Given the description of an element on the screen output the (x, y) to click on. 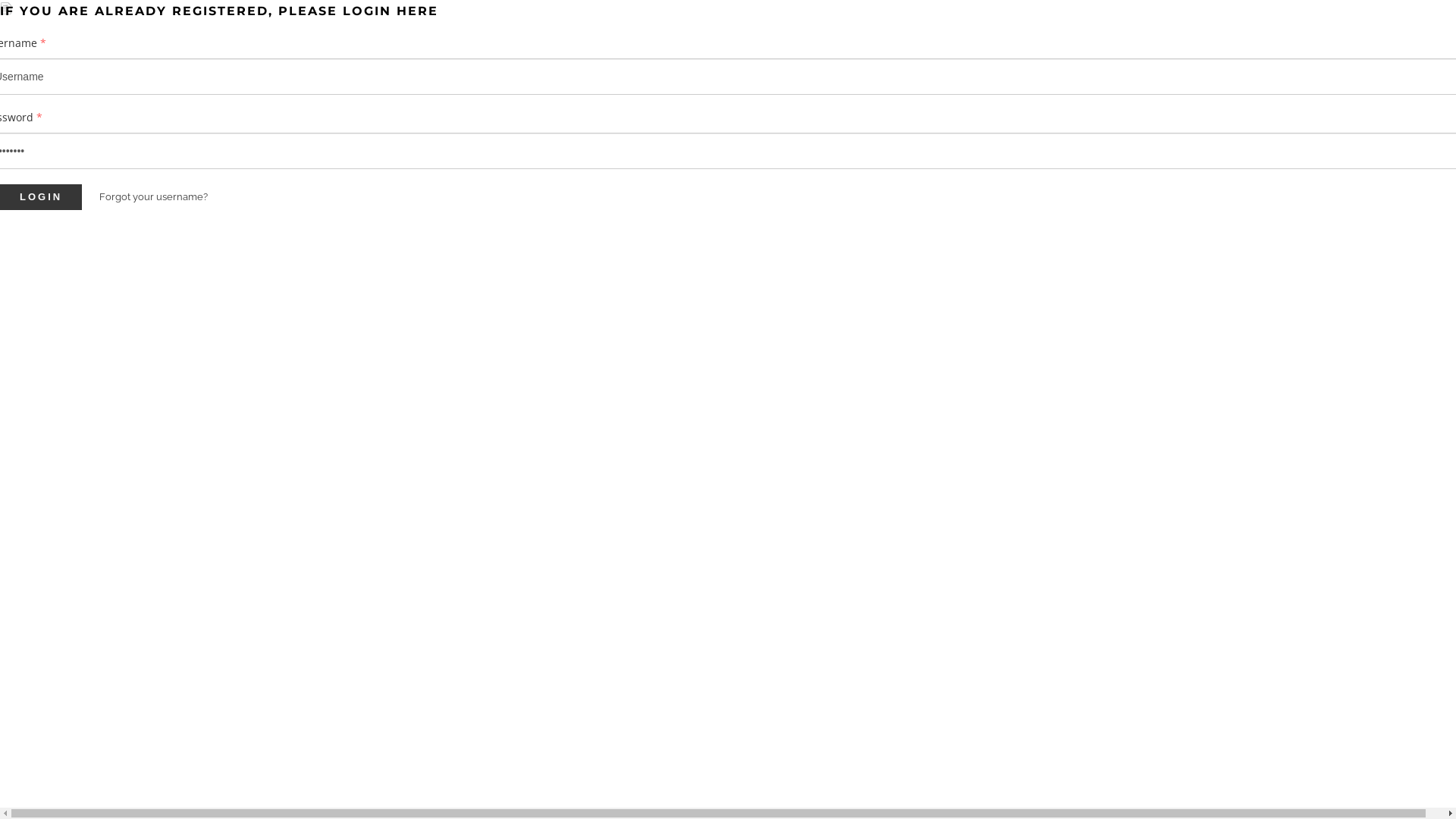
Login Element type: text (40, 197)
Forgot your username? Element type: text (153, 196)
